Given the description of an element on the screen output the (x, y) to click on. 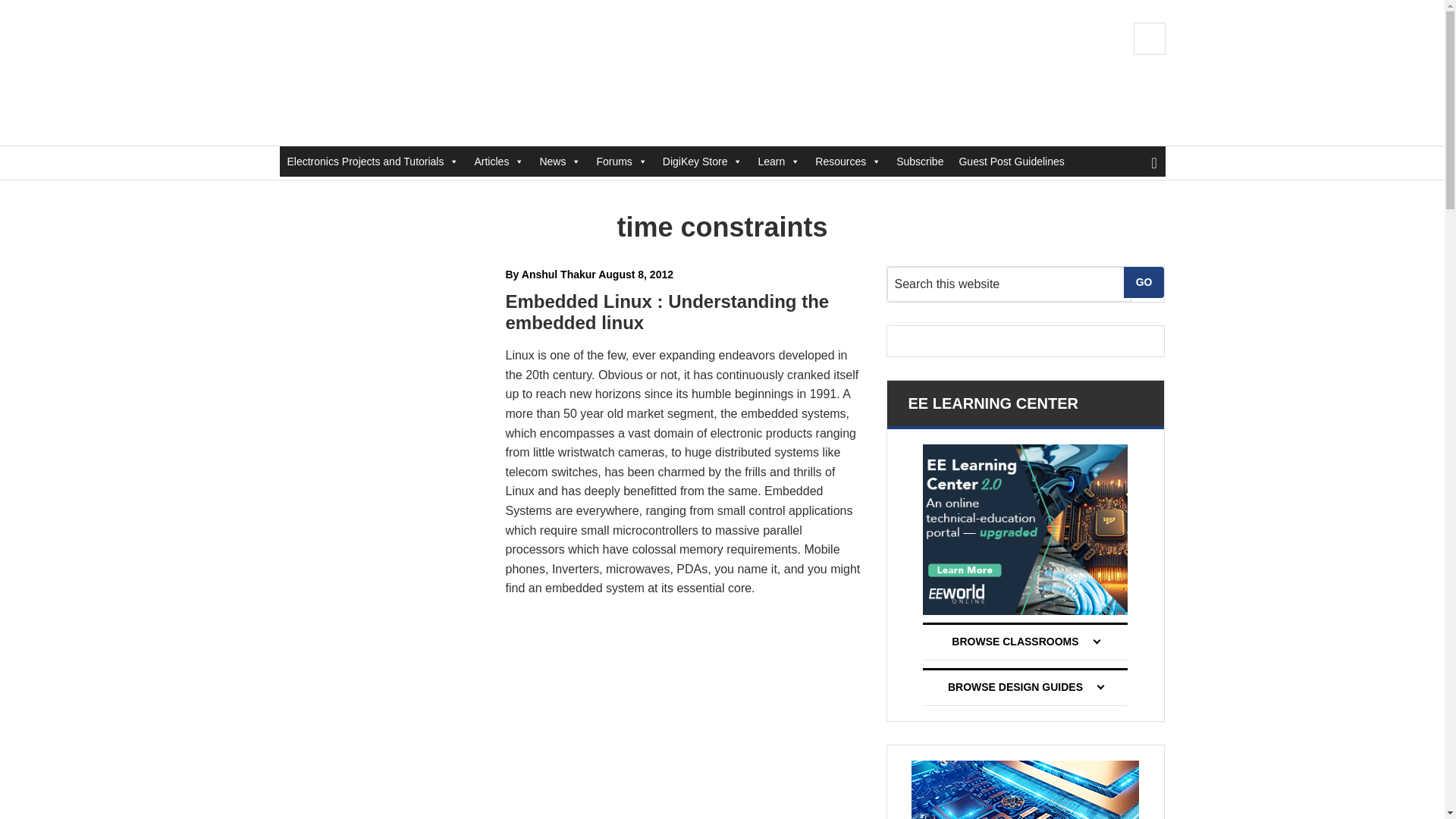
Electronics Projects and Tutorials (372, 161)
GO (1144, 282)
News (559, 161)
Engineers Garage (380, 72)
Articles (498, 161)
GO (1144, 282)
